Given the description of an element on the screen output the (x, y) to click on. 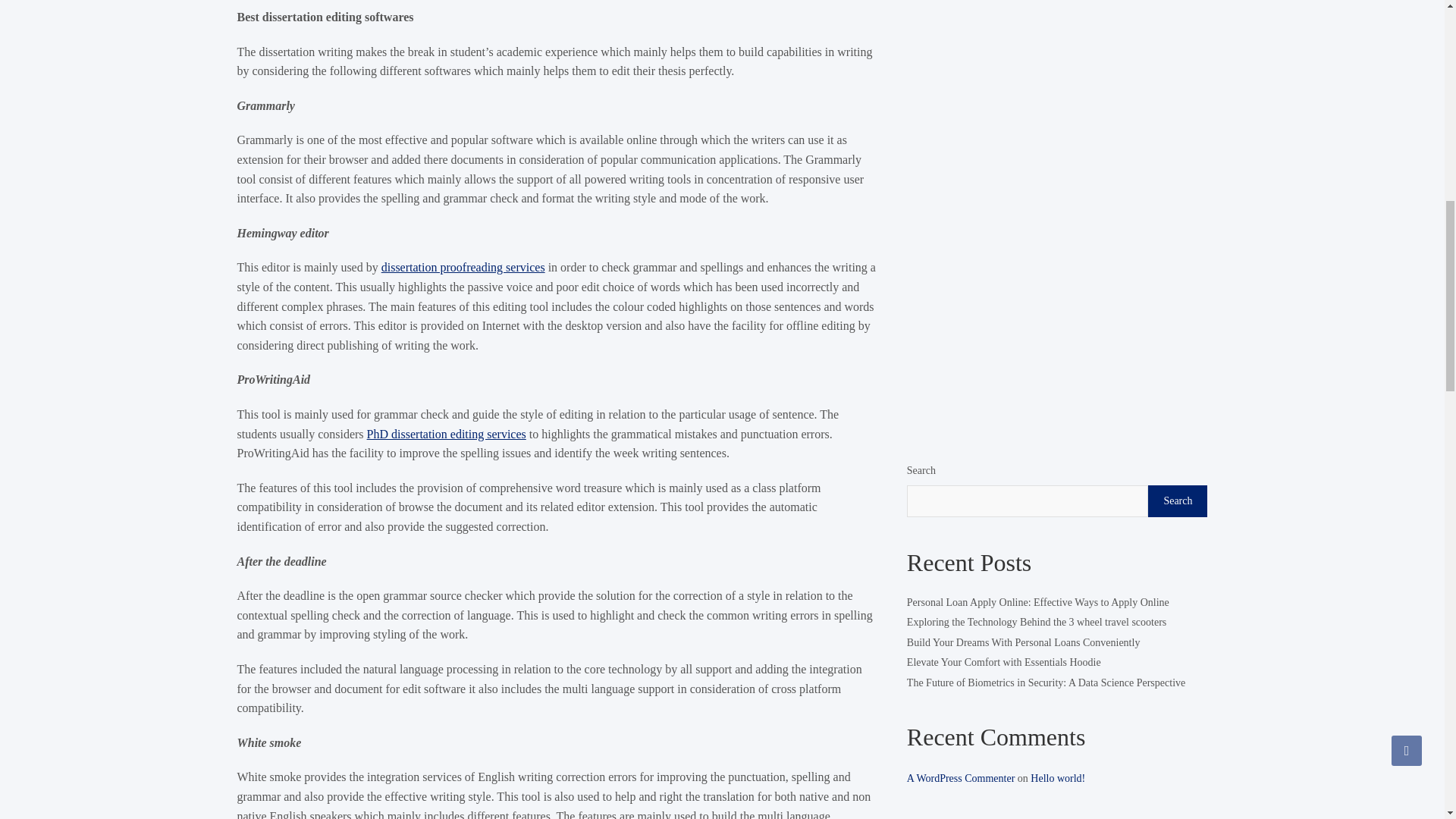
PhD dissertation editing services (445, 433)
dissertation proofreading services (462, 267)
